Given the description of an element on the screen output the (x, y) to click on. 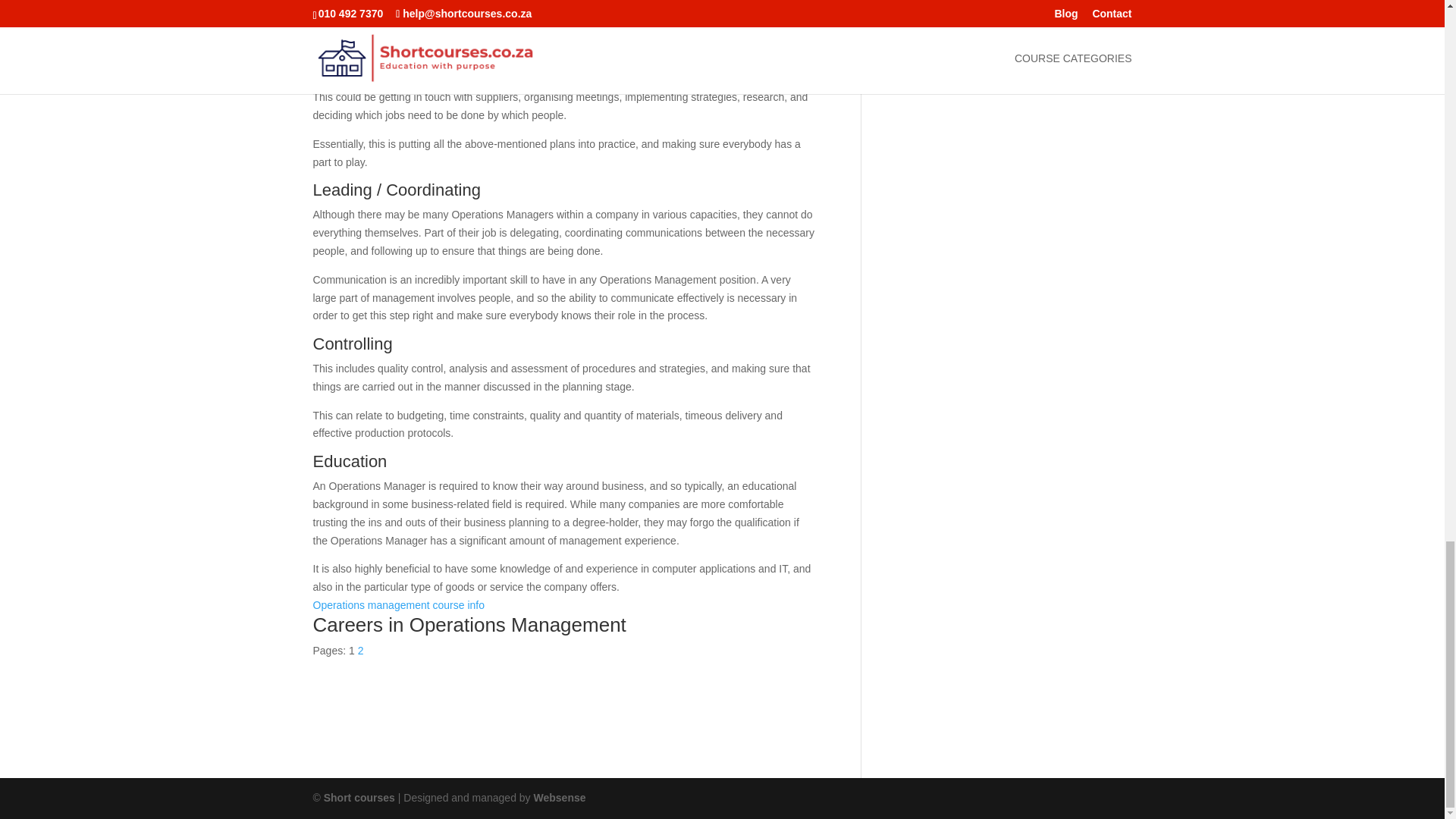
Websense (560, 797)
Short courses (358, 797)
Operations management course info (398, 604)
